Given the description of an element on the screen output the (x, y) to click on. 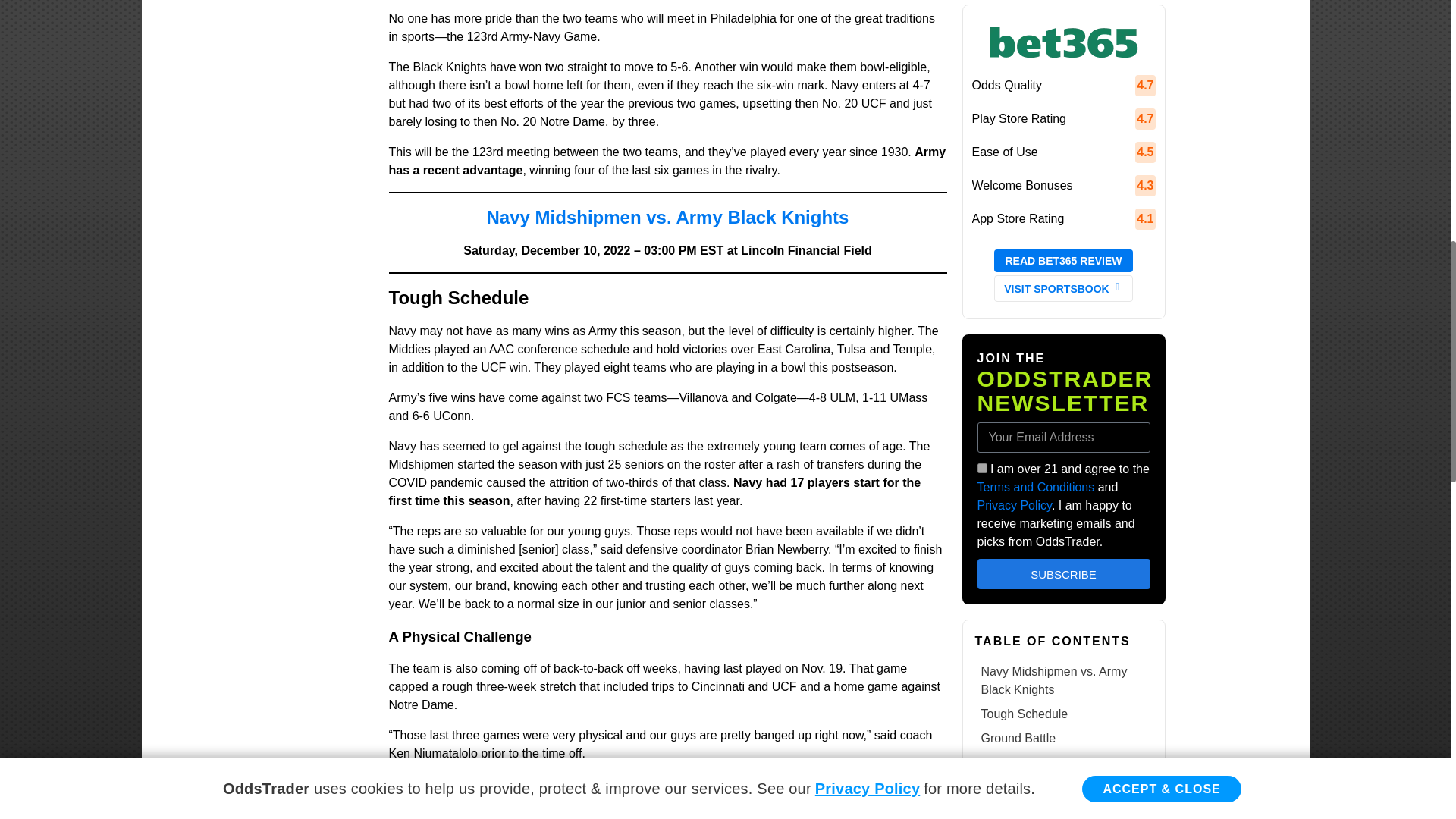
bet365-logo - Oddstrader (1062, 42)
on (981, 468)
Navy Midshipmen vs. Army Black Knights (667, 217)
